Given the description of an element on the screen output the (x, y) to click on. 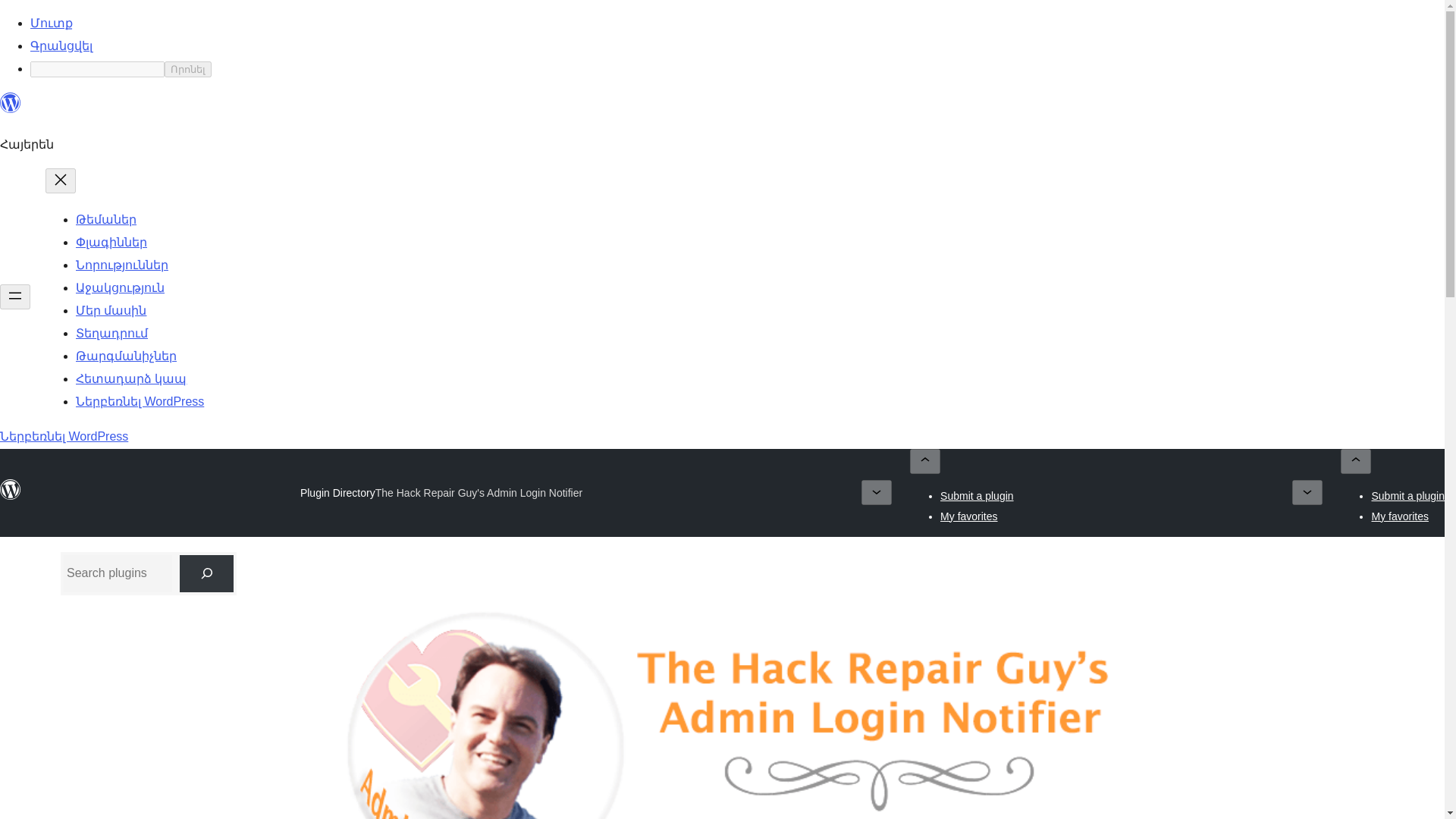
My favorites (968, 515)
WordPress.org (10, 489)
Plugin Directory (337, 492)
WordPress.org (10, 496)
The Hack Repair Guy's Admin Login Notifier (478, 492)
My favorites (1399, 515)
WordPress.org (10, 102)
WordPress.org (10, 109)
Submit a plugin (976, 495)
